Given the description of an element on the screen output the (x, y) to click on. 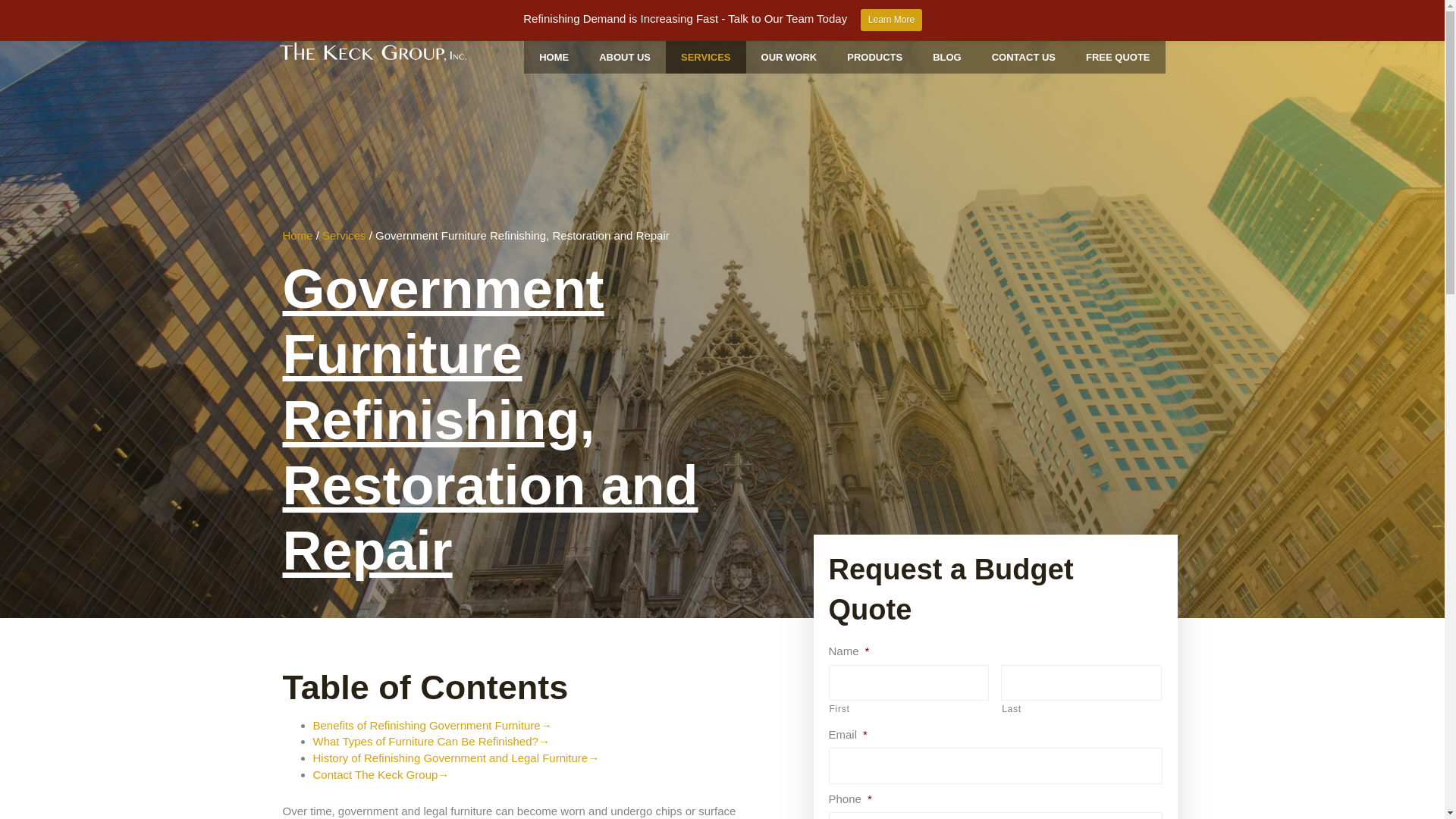
FREE QUOTE (1118, 56)
Home (297, 235)
logo (372, 52)
CONTACT US (1023, 56)
BLOG (946, 56)
Services (343, 235)
PRODUCTS (874, 56)
OUR WORK (788, 56)
HOME (553, 56)
SERVICES (705, 56)
ABOUT US (624, 56)
